Given the description of an element on the screen output the (x, y) to click on. 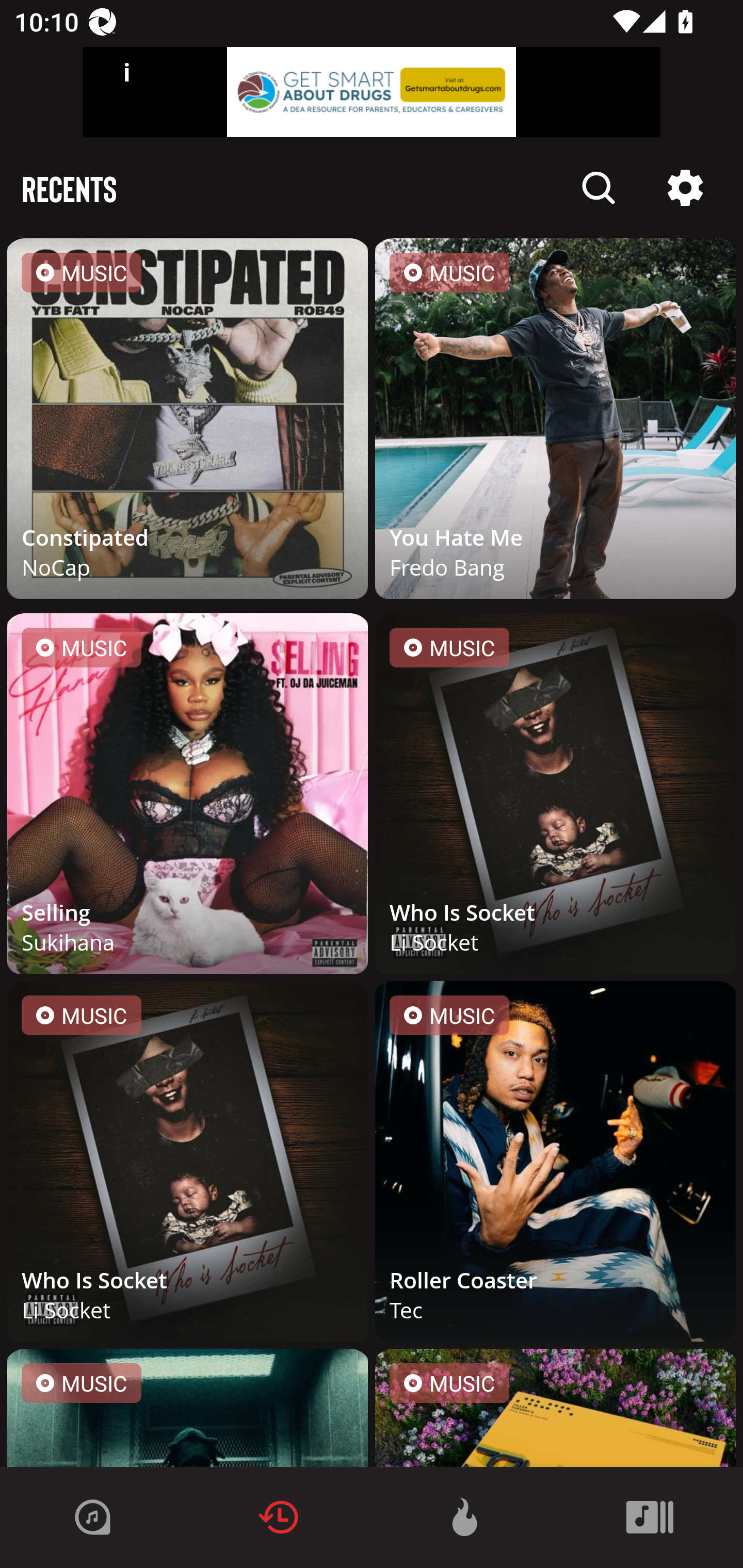
Description (598, 188)
Description (684, 188)
MUSIC Constipated NoCap (187, 422)
MUSIC You Hate Me Fredo Bang (555, 422)
MUSIC Selling Sukihana (187, 797)
MUSIC Who Is Socket Li Socket (555, 797)
MUSIC Who Is Socket Li Socket (187, 1164)
MUSIC Roller Coaster Tec (555, 1164)
